Given the description of an element on the screen output the (x, y) to click on. 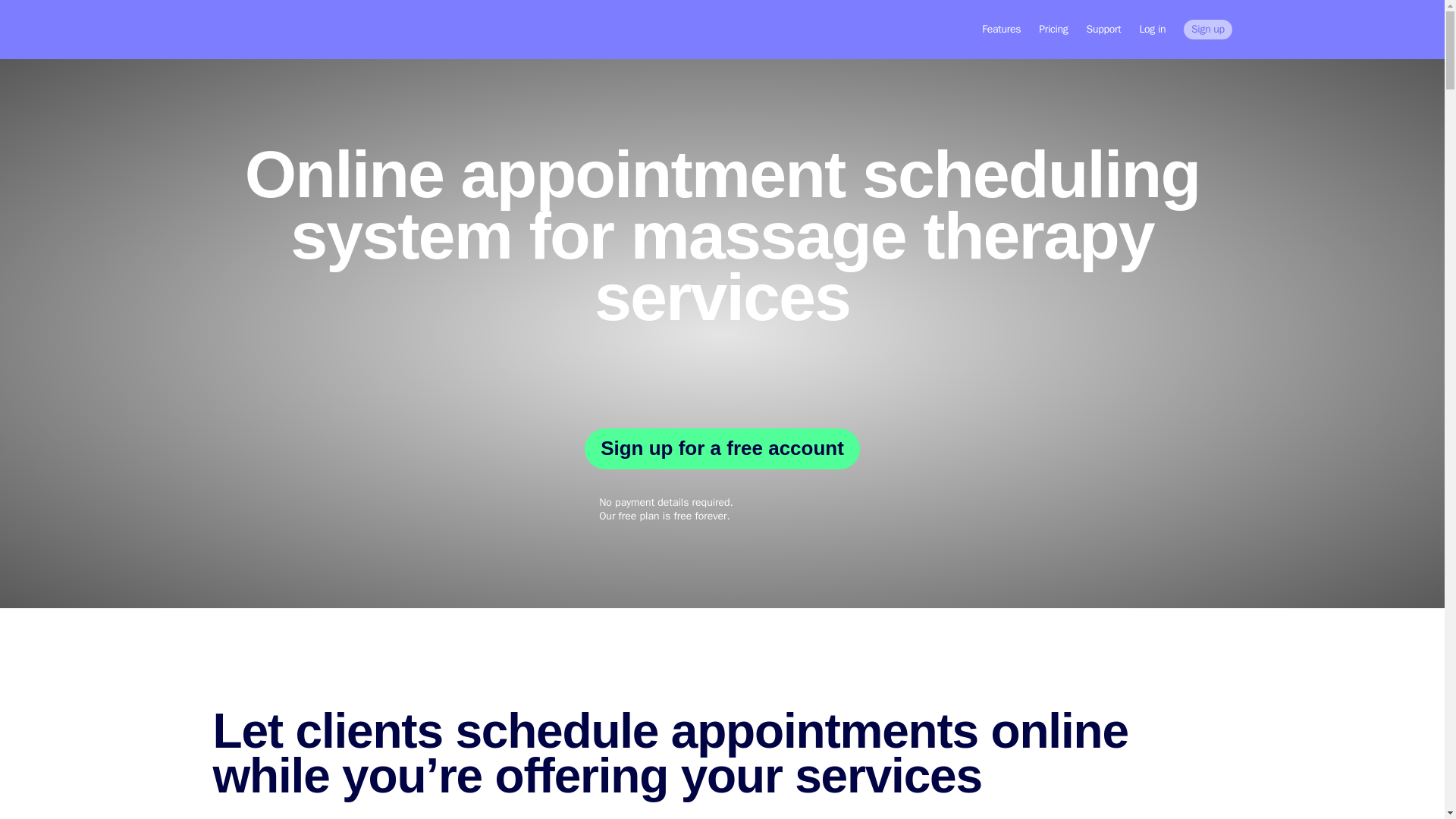
Log in (1152, 29)
Pricing (1053, 29)
Sign up (1207, 29)
Features (1000, 29)
Sign up for a free account (722, 448)
Support (1103, 29)
